Given the description of an element on the screen output the (x, y) to click on. 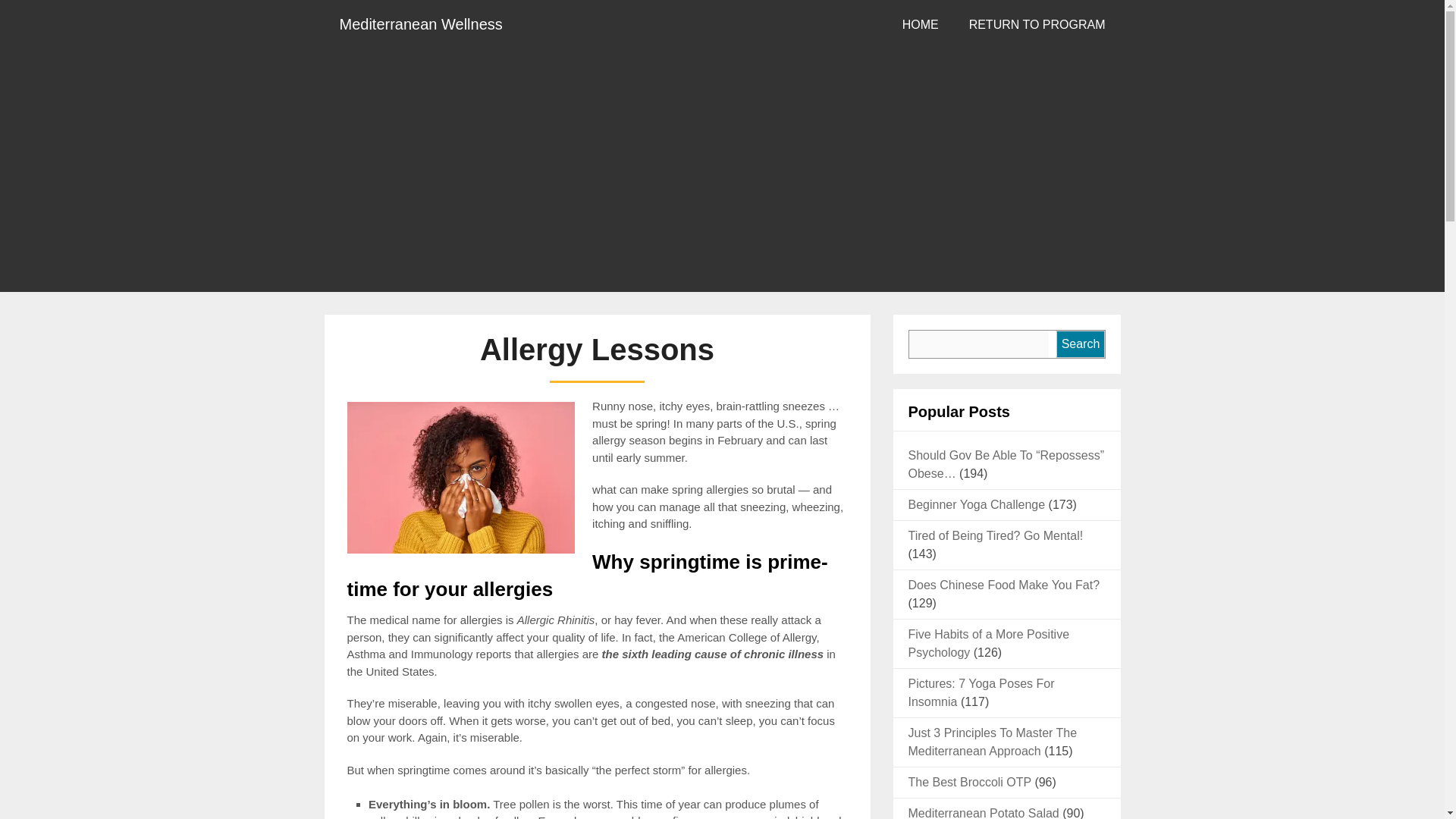
Mediterranean Potato Salad (983, 812)
Beginner Yoga Challenge (976, 504)
HOME (919, 24)
Pictures: 7 Yoga Poses For Insomnia (981, 692)
Five Habits of a More Positive Psychology (989, 643)
Search (1080, 343)
RETURN TO PROGRAM (1037, 24)
Mediterranean Wellness (421, 24)
Does Chinese Food Make You Fat? (1004, 584)
Tired of Being Tired? Go Mental! (995, 535)
